Given the description of an element on the screen output the (x, y) to click on. 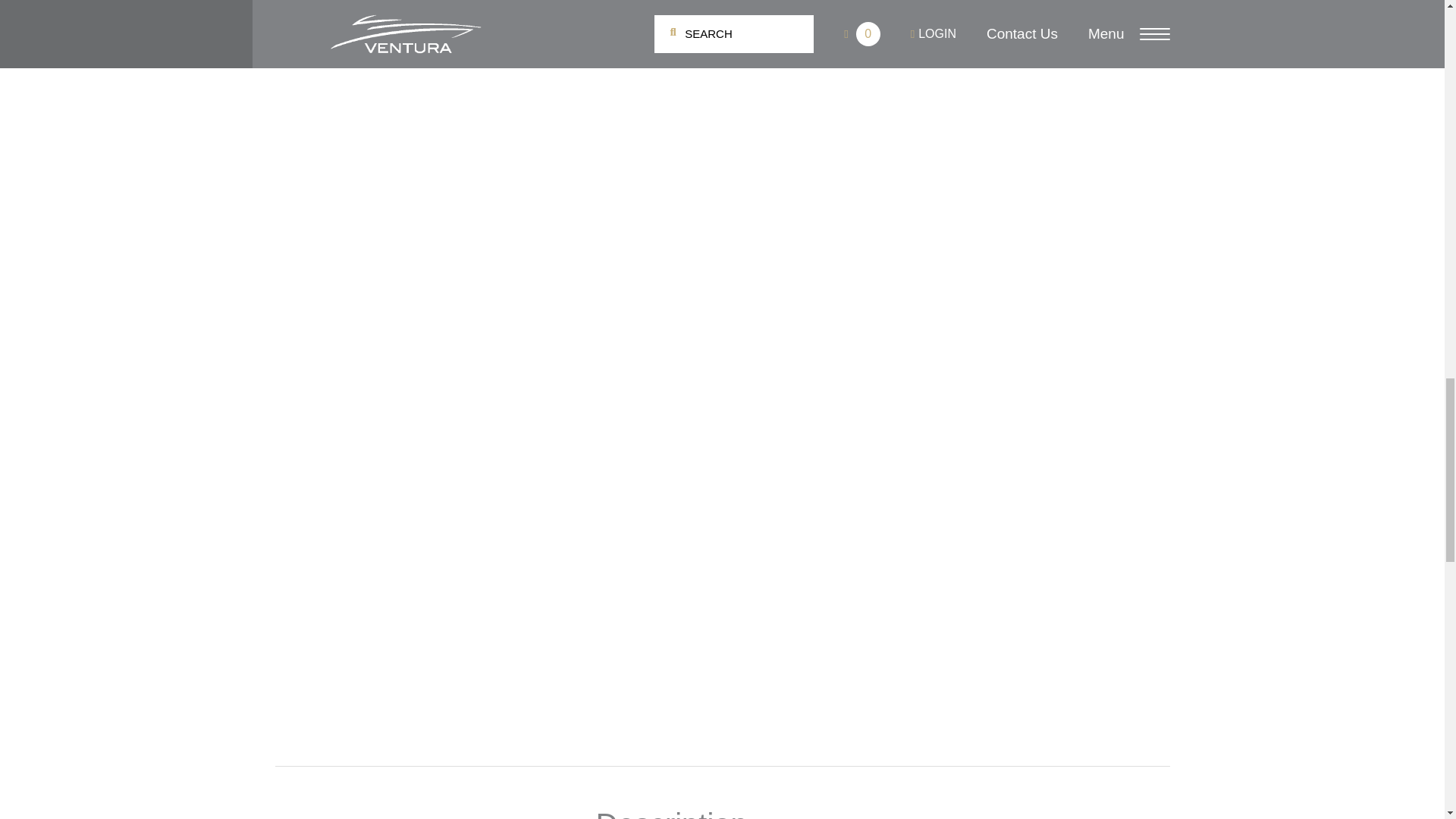
Description (316, 818)
